Given the description of an element on the screen output the (x, y) to click on. 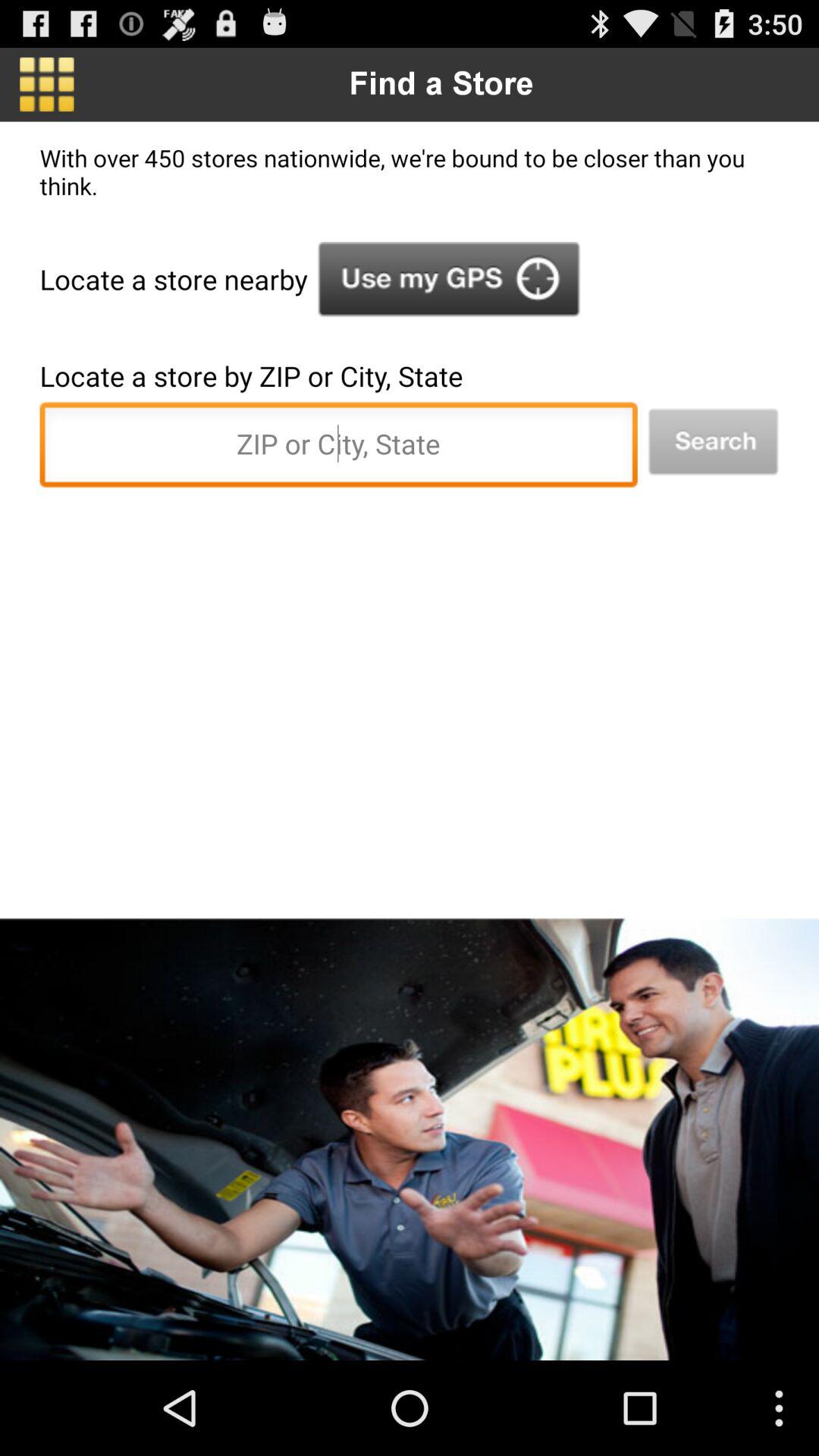
choose app above the locate a store icon (448, 279)
